Given the description of an element on the screen output the (x, y) to click on. 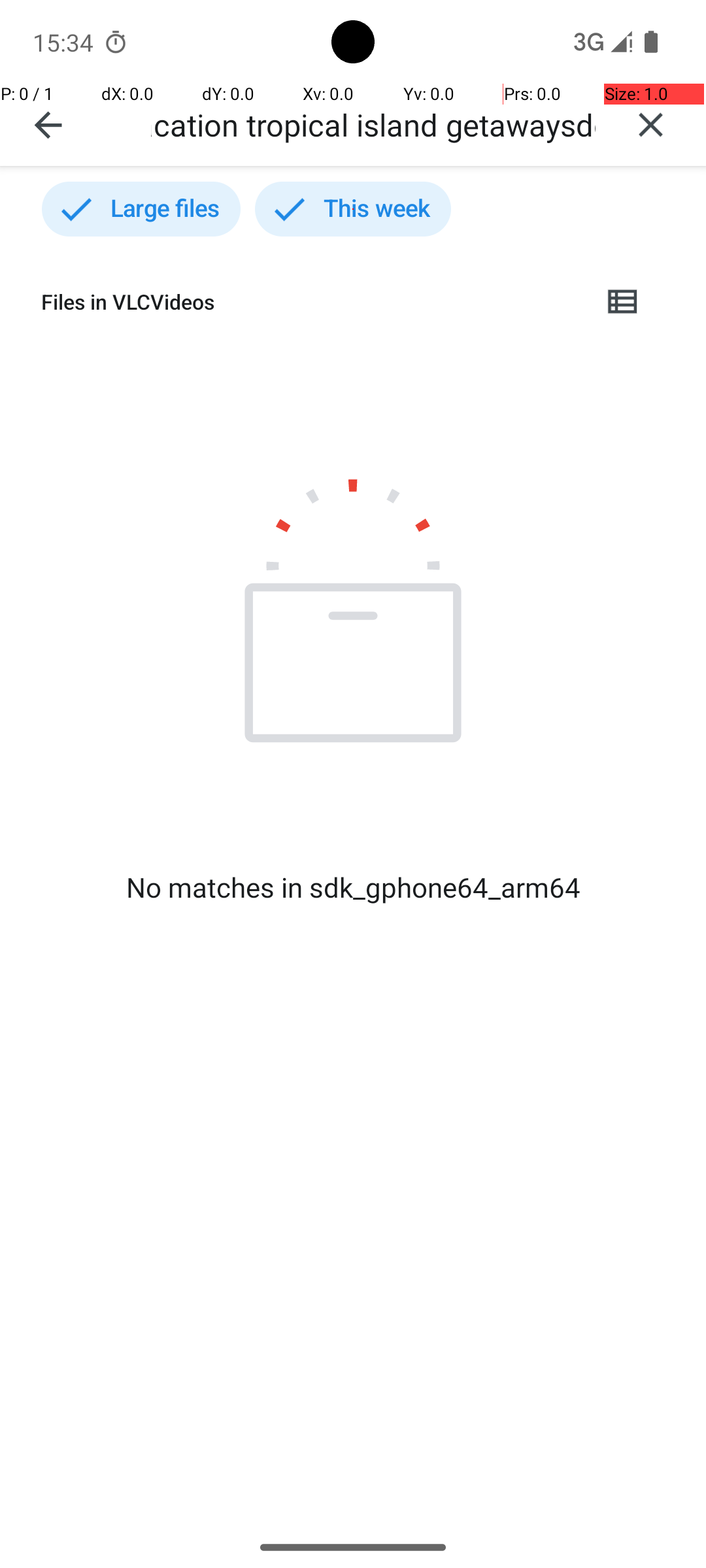
Files in VLCVideos Element type: android.widget.TextView (311, 301)
beach vacation tropical island getawaysdestinations Element type: android.widget.AutoCompleteTextView (373, 124)
No matches in sdk_gphone64_arm64 Element type: android.widget.TextView (352, 886)
